Given the description of an element on the screen output the (x, y) to click on. 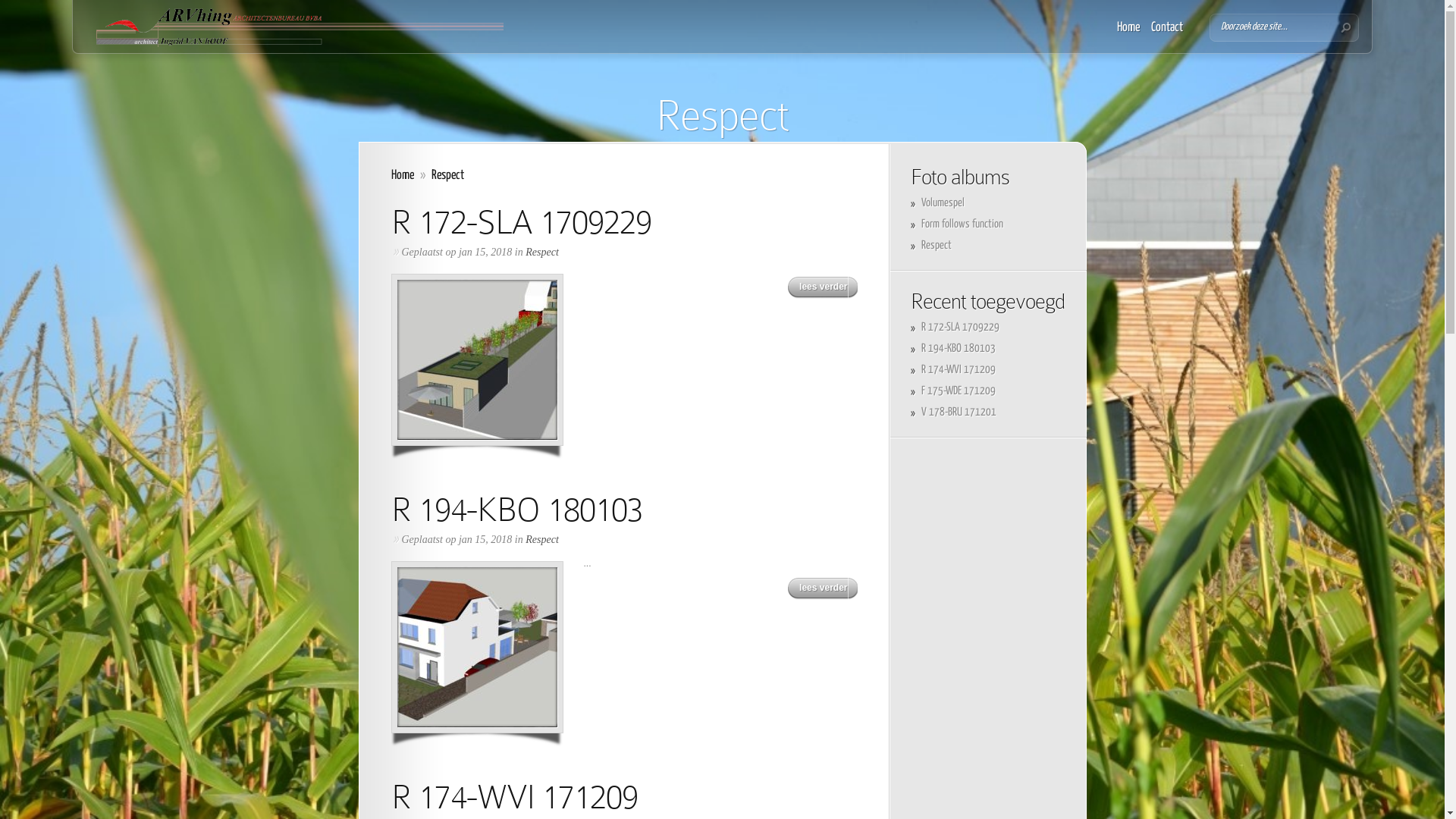
Respect Element type: text (541, 539)
Contact Element type: text (1167, 27)
V 178-BRU 171201 Element type: text (957, 411)
Home Element type: text (1128, 27)
Form follows function Element type: text (961, 223)
Home Element type: text (402, 175)
lees verder Element type: text (821, 588)
R 174-WVI 171209 Element type: text (957, 369)
R 174-WVI 171209 Element type: text (514, 796)
Respect Element type: text (541, 251)
lees verder Element type: text (821, 287)
R 194-KBO 180103 Element type: text (517, 508)
R 172-SLA 1709229 Element type: text (959, 326)
F 175-WDE 171209 Element type: text (957, 390)
R 172-SLA 1709229 Element type: text (521, 221)
Respect Element type: text (935, 245)
R 194-KBO 180103 Element type: text (957, 348)
Volumespel Element type: text (941, 202)
